Given the description of an element on the screen output the (x, y) to click on. 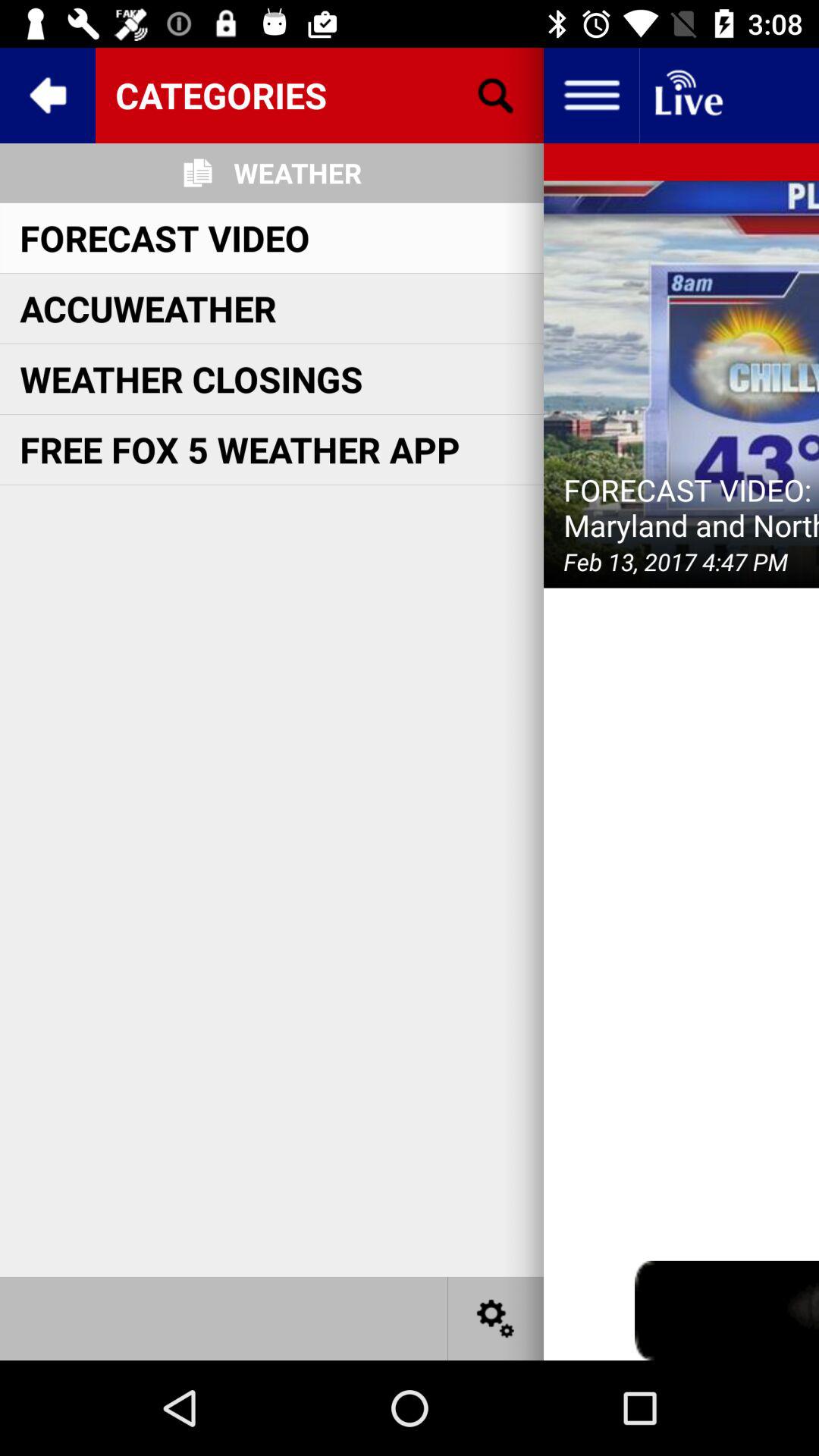
press accuweather (147, 308)
